Given the description of an element on the screen output the (x, y) to click on. 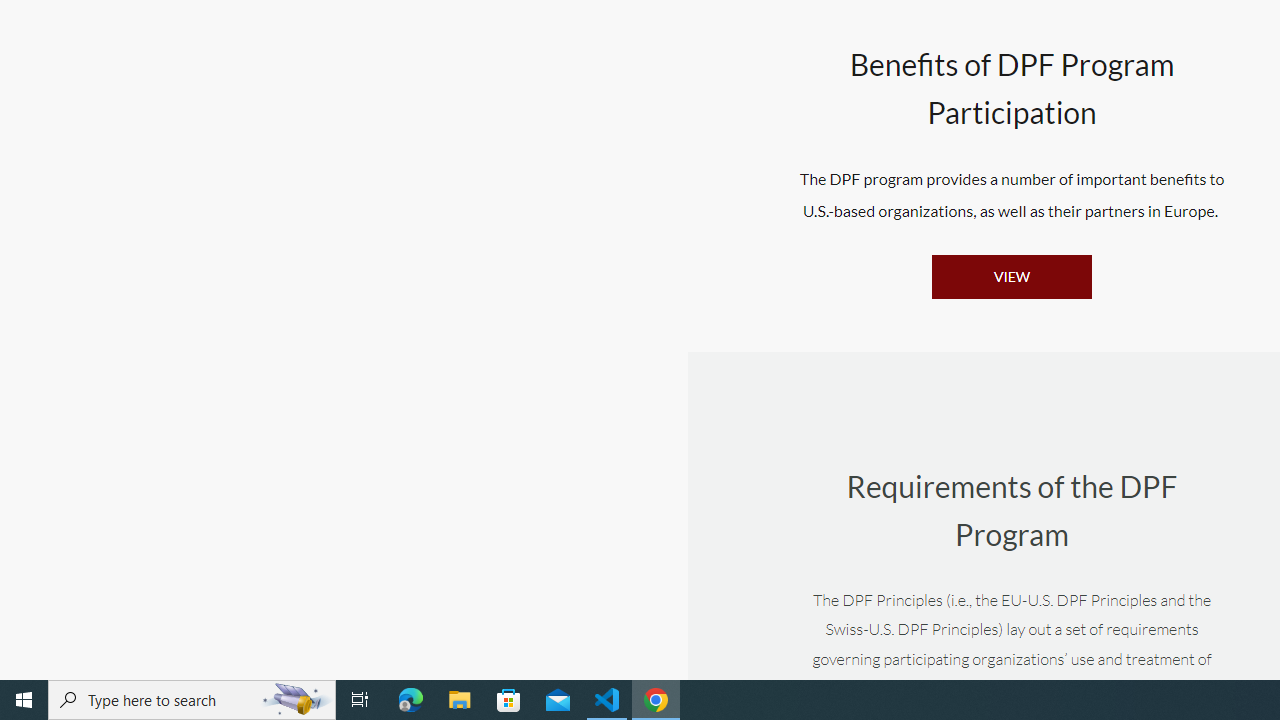
VIEW (1011, 276)
